Given the description of an element on the screen output the (x, y) to click on. 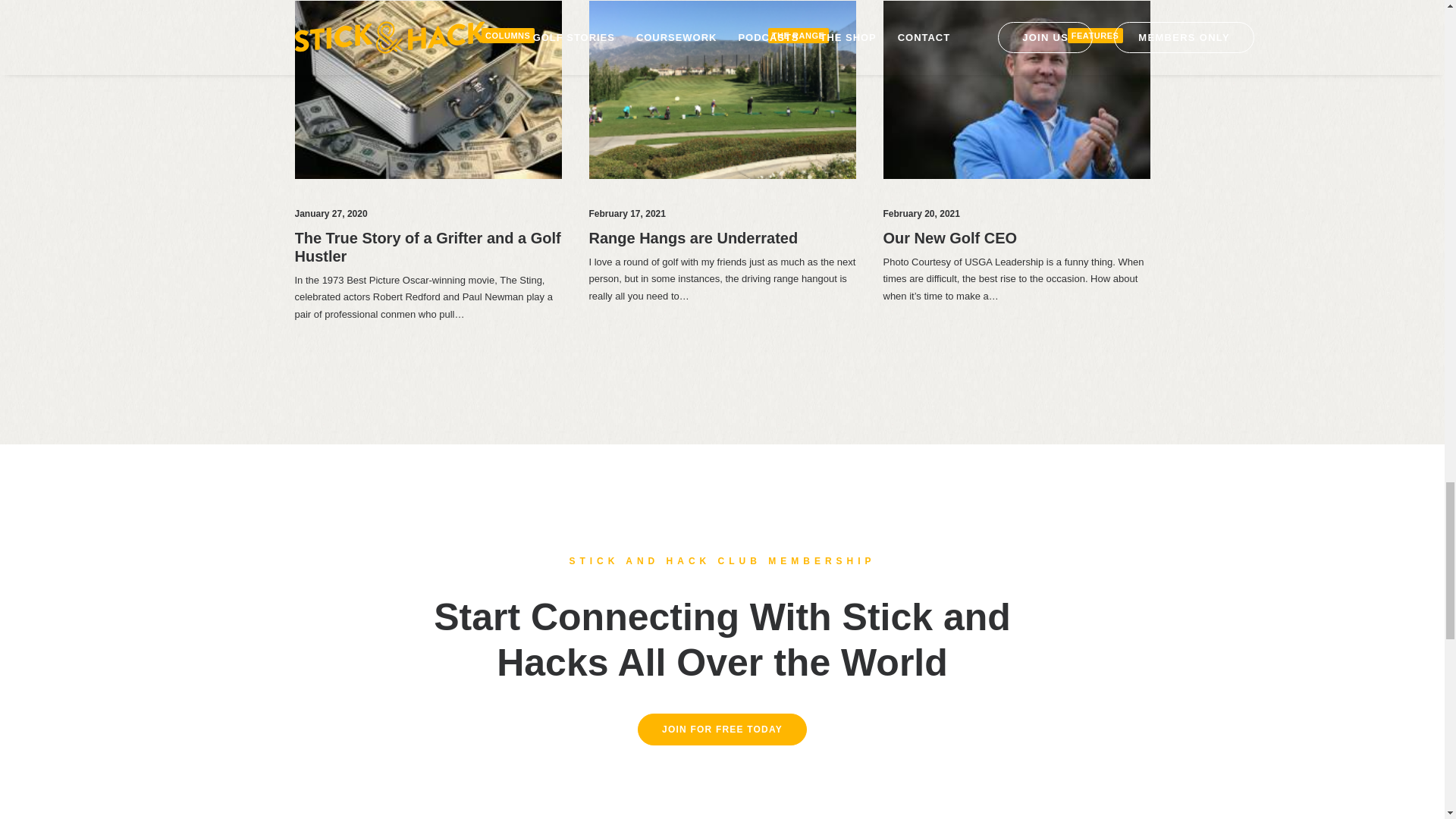
JOIN FOR FREE TODAY (721, 729)
FEATURES (1094, 35)
Our New Golf CEO (949, 238)
THE RANGE (798, 35)
Range Hangs are Underrated (692, 238)
COLUMNS (507, 35)
The True Story of a Grifter and a Golf Hustler (427, 247)
